Given the description of an element on the screen output the (x, y) to click on. 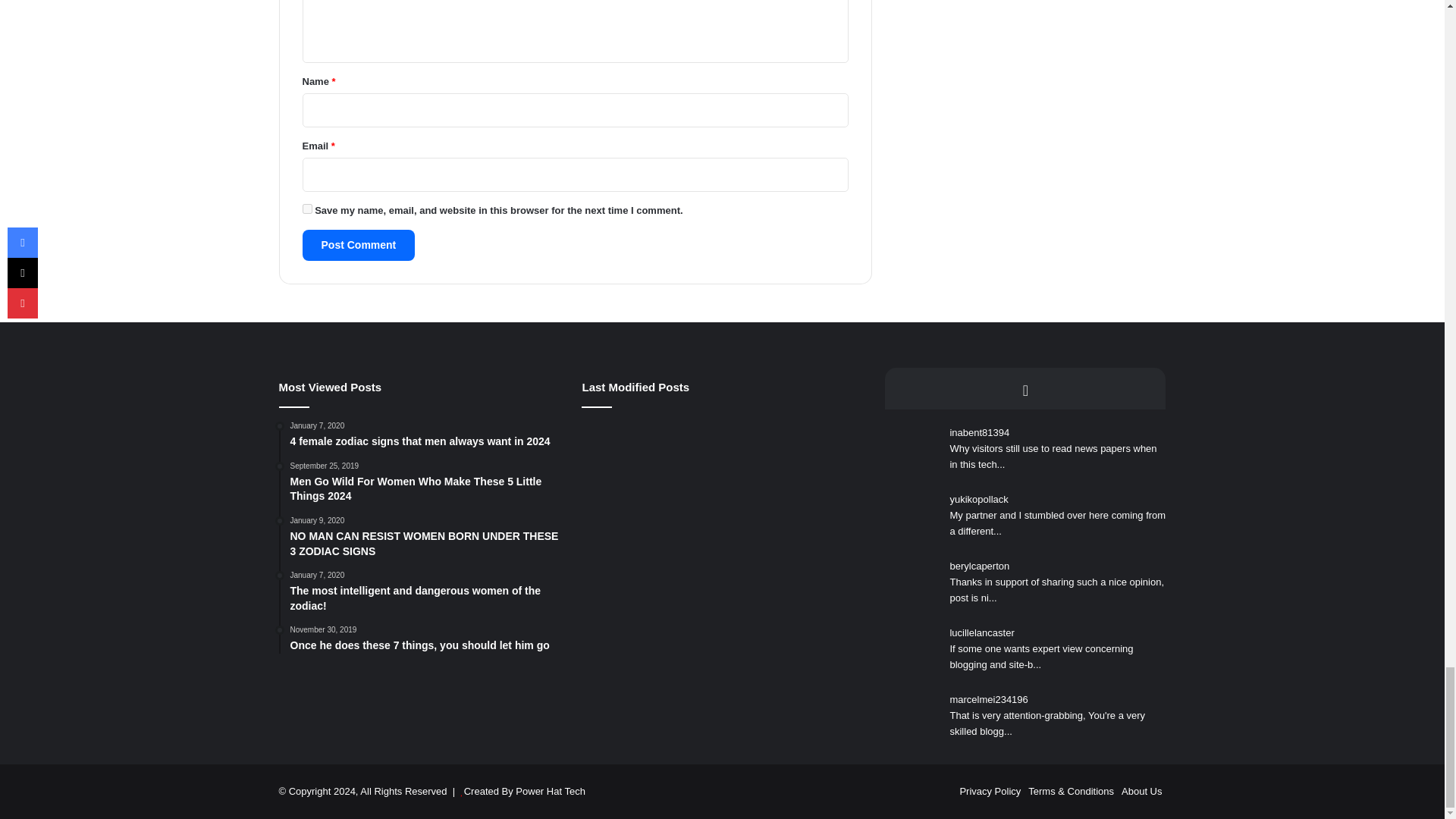
Post Comment (357, 245)
yes (306, 208)
